Given the description of an element on the screen output the (x, y) to click on. 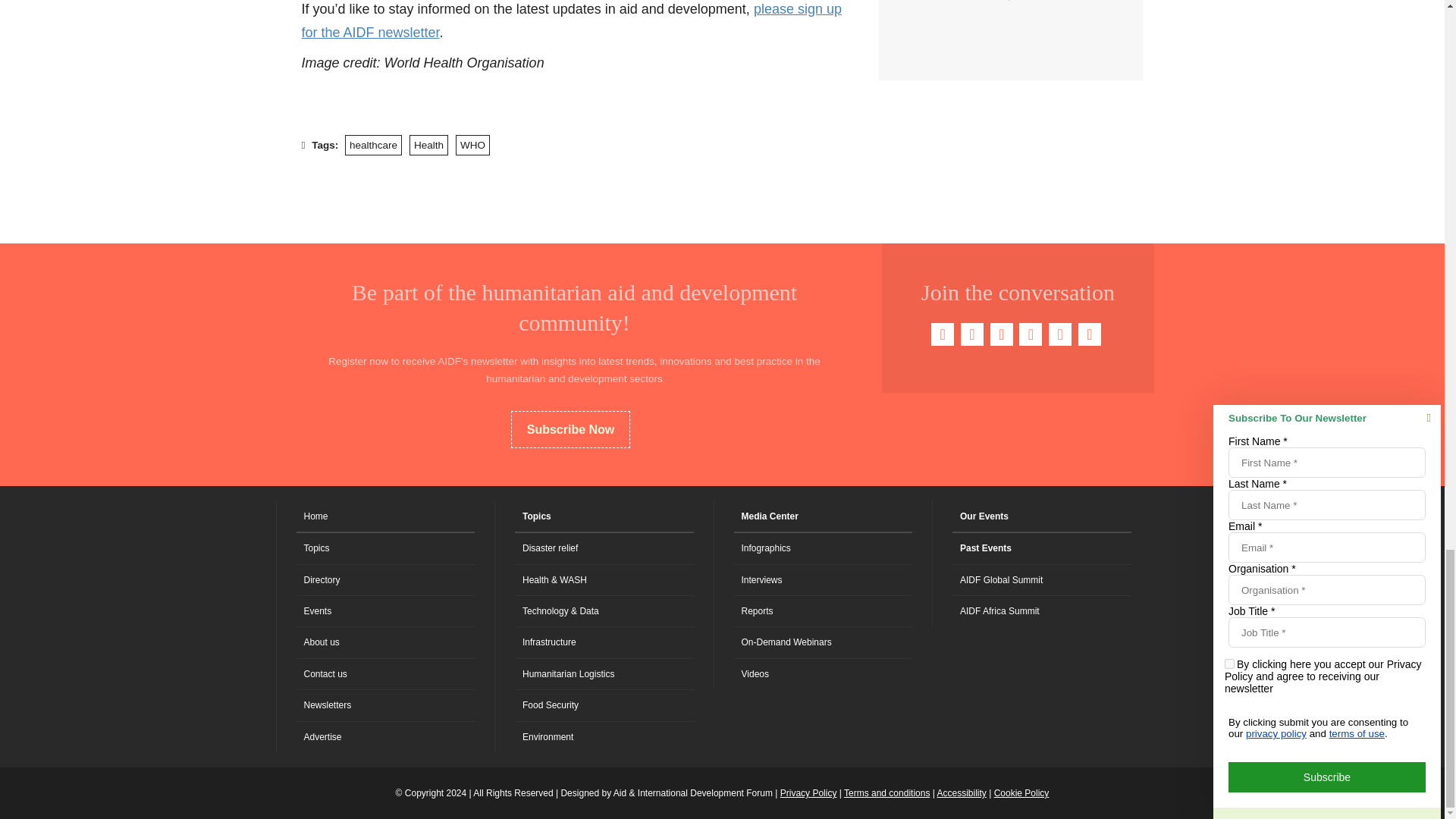
healthcare (373, 145)
Health (428, 145)
WHO (472, 145)
